Given the description of an element on the screen output the (x, y) to click on. 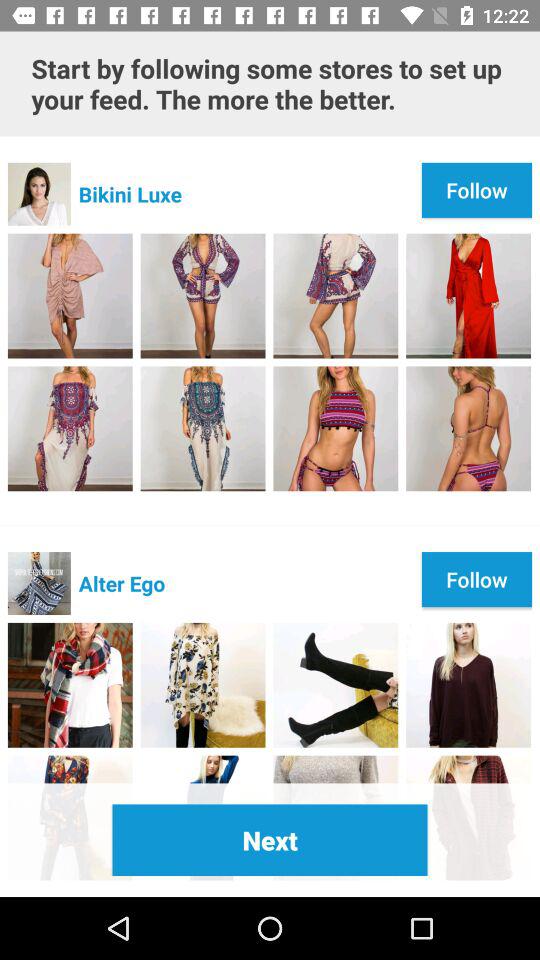
jump to the start by following (269, 83)
